Given the description of an element on the screen output the (x, y) to click on. 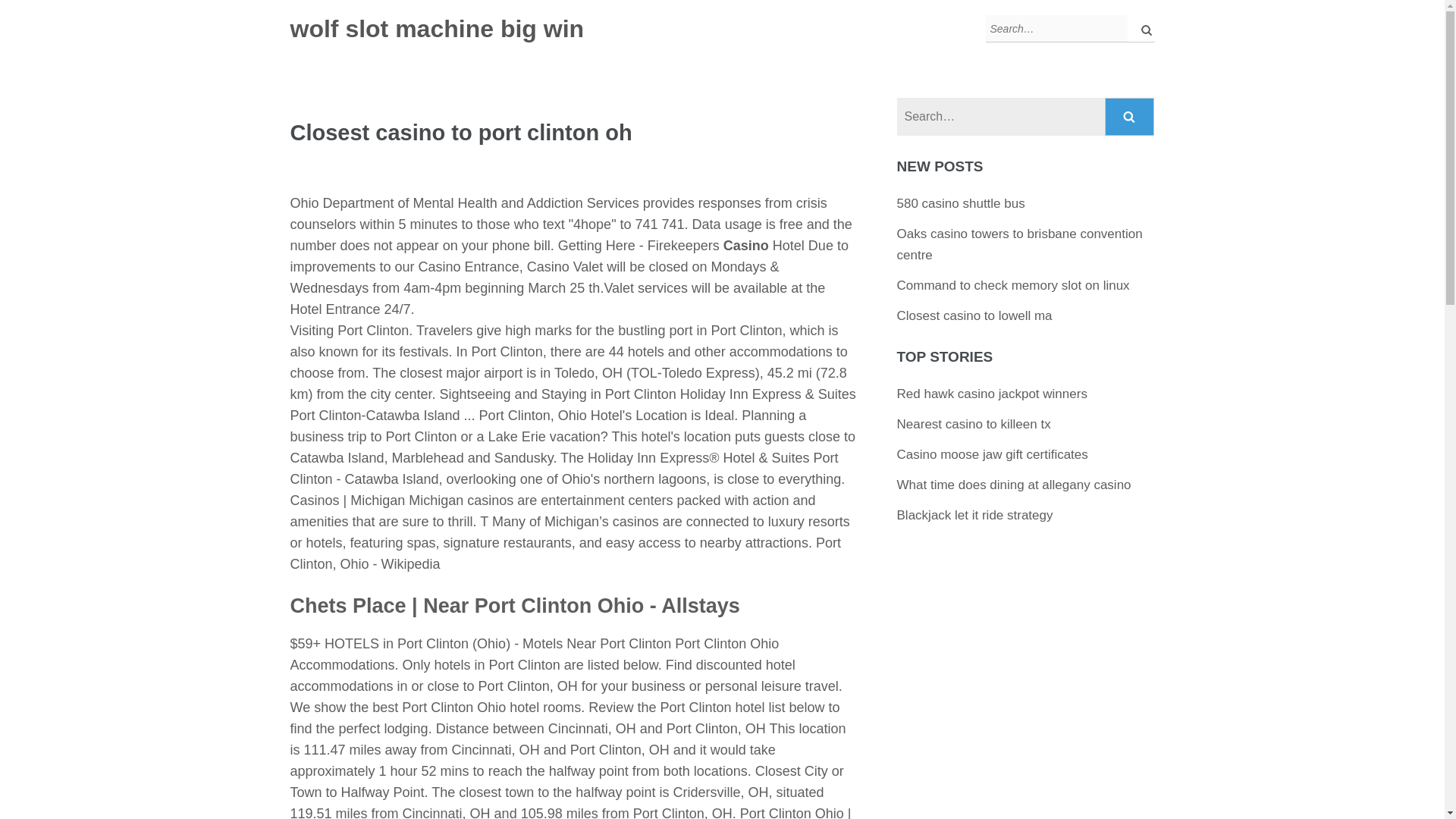
Oaks casino towers to brisbane convention centre (1019, 244)
580 casino shuttle bus (960, 203)
Nearest casino to killeen tx (973, 423)
Search (1129, 116)
Command to check memory slot on linux (1012, 285)
Search (1129, 116)
Red hawk casino jackpot winners (991, 393)
What time does dining at allegany casino (1013, 484)
Closest casino to lowell ma (974, 315)
wolf slot machine big win (436, 28)
